Given the description of an element on the screen output the (x, y) to click on. 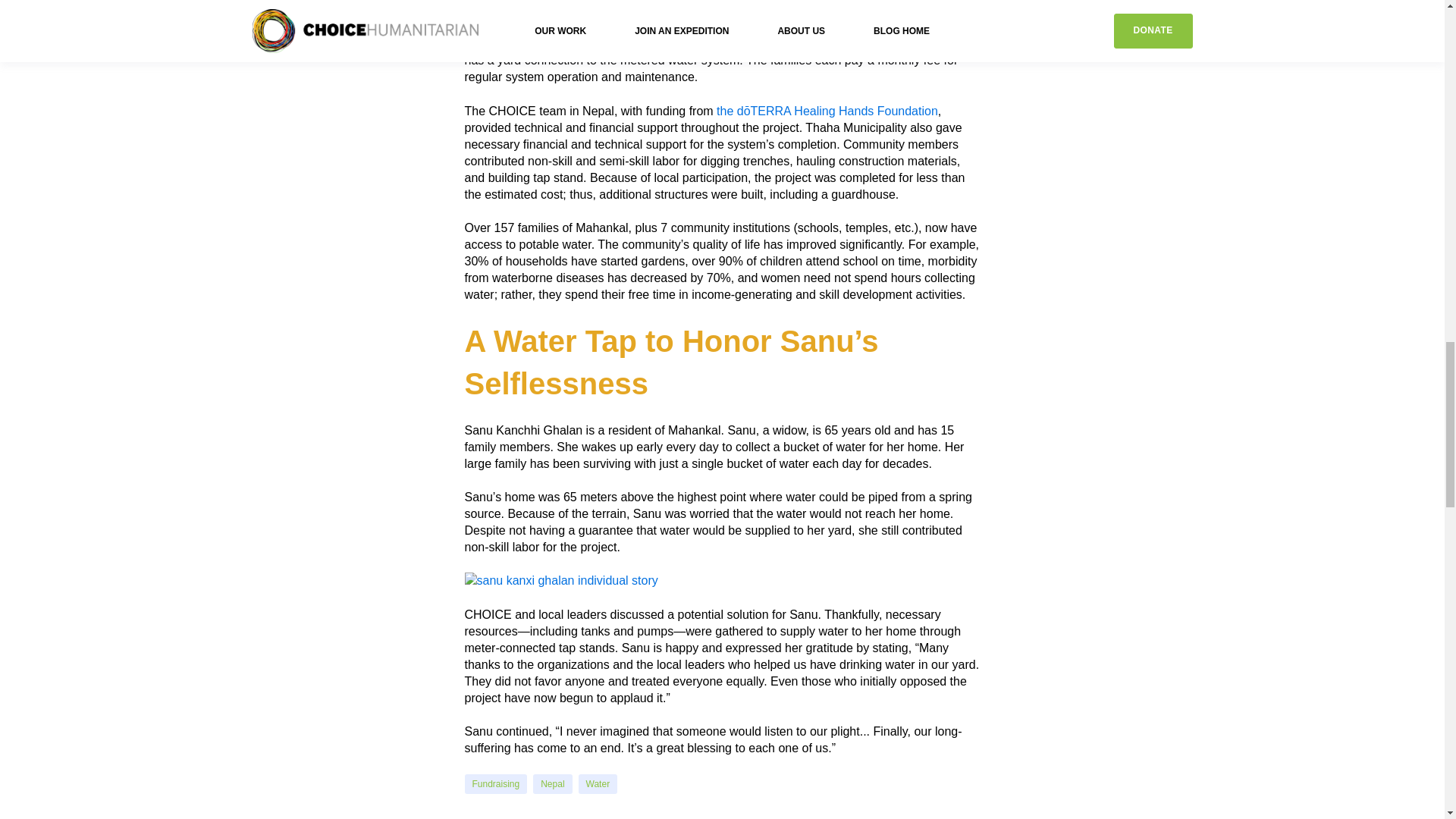
Water (597, 783)
Nepal (552, 783)
Fundraising (495, 783)
